Given the description of an element on the screen output the (x, y) to click on. 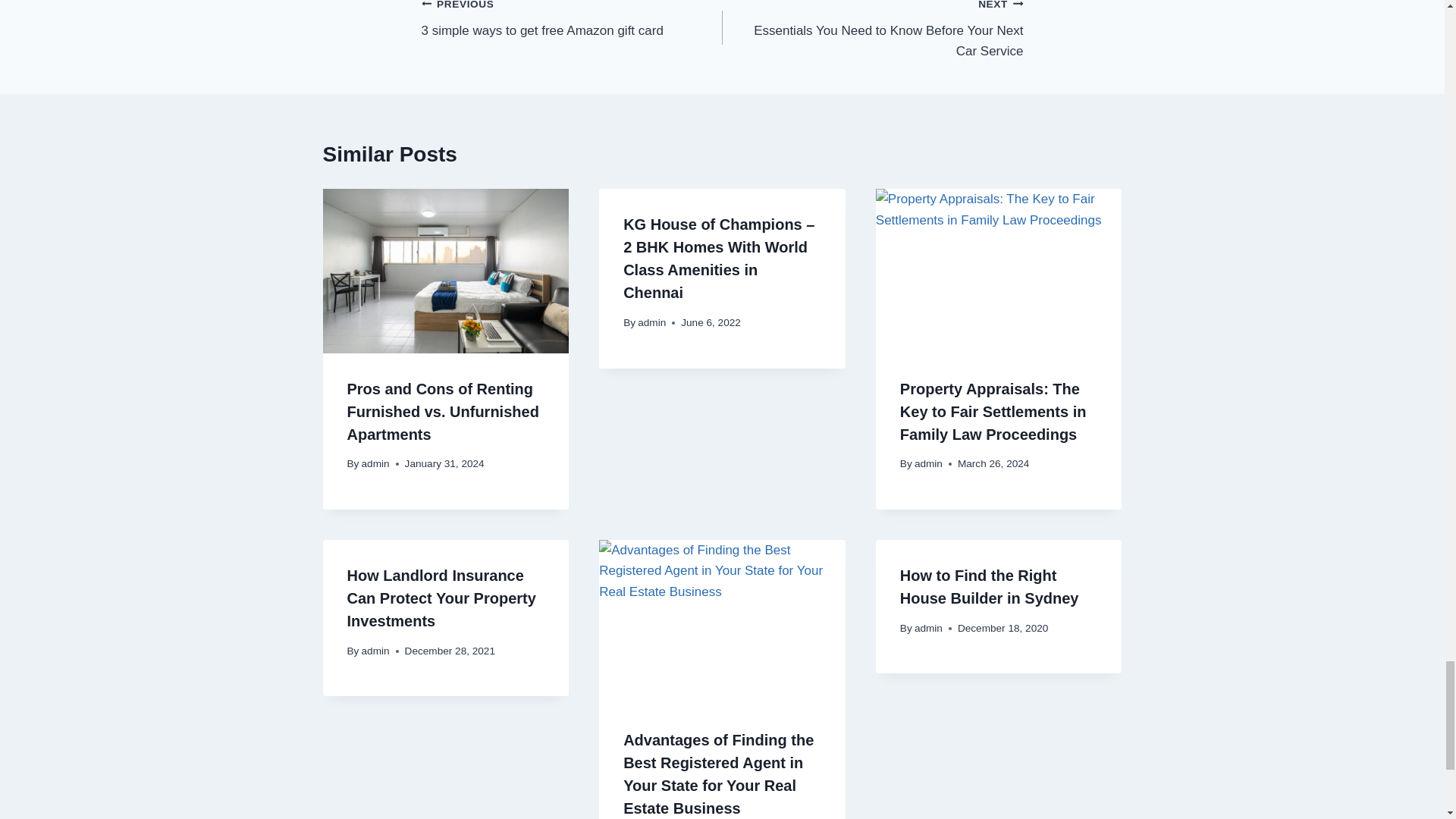
admin (375, 463)
